Given the description of an element on the screen output the (x, y) to click on. 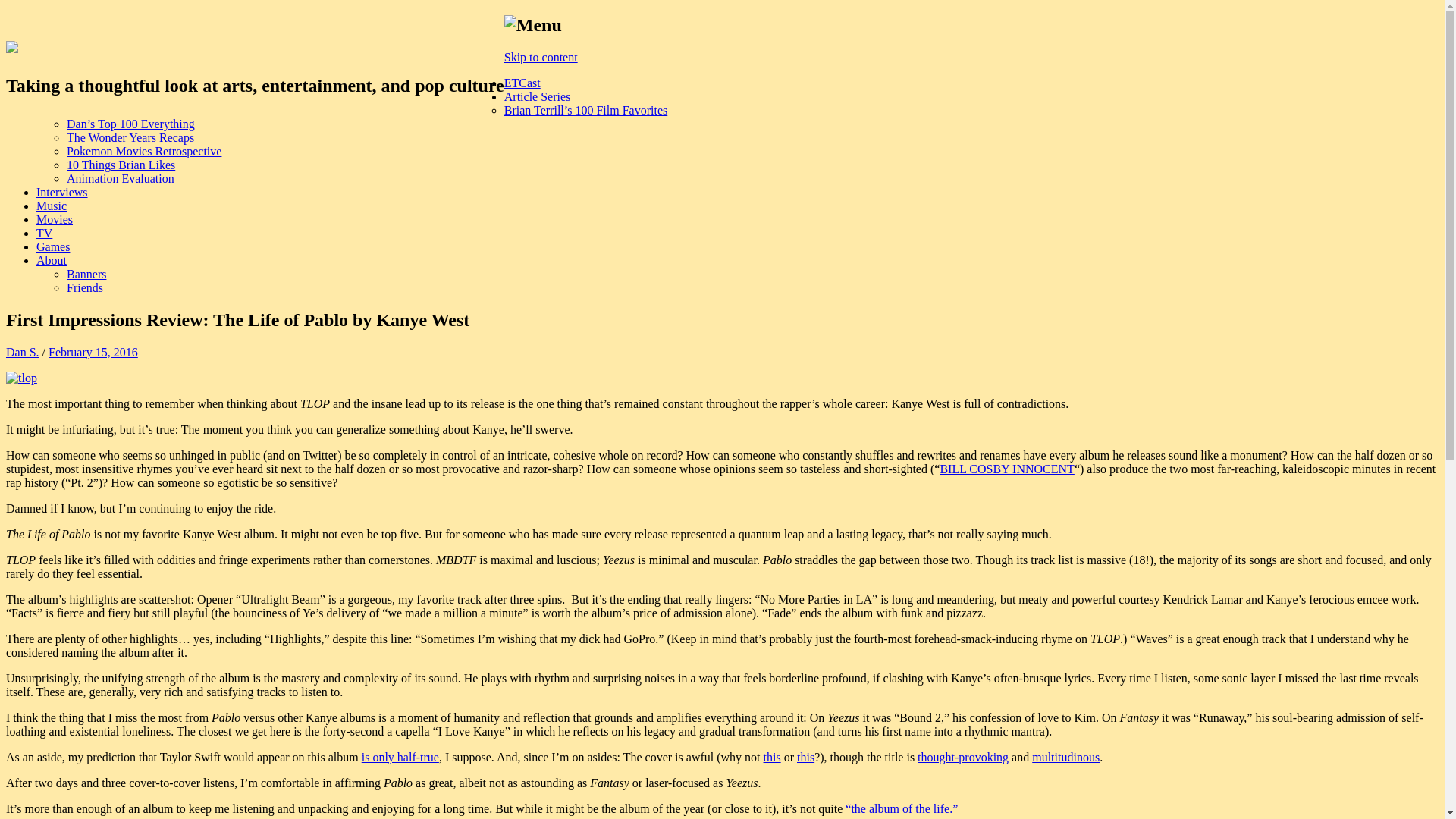
TV (44, 232)
Friends (84, 287)
this (804, 757)
Animation Evaluation (120, 178)
Pokemon Movies Retrospective (143, 151)
February 15, 2016 (93, 351)
Movies (54, 219)
Skip to content (540, 56)
ETCast (521, 82)
The Wonder Years Recaps (129, 137)
